Given the description of an element on the screen output the (x, y) to click on. 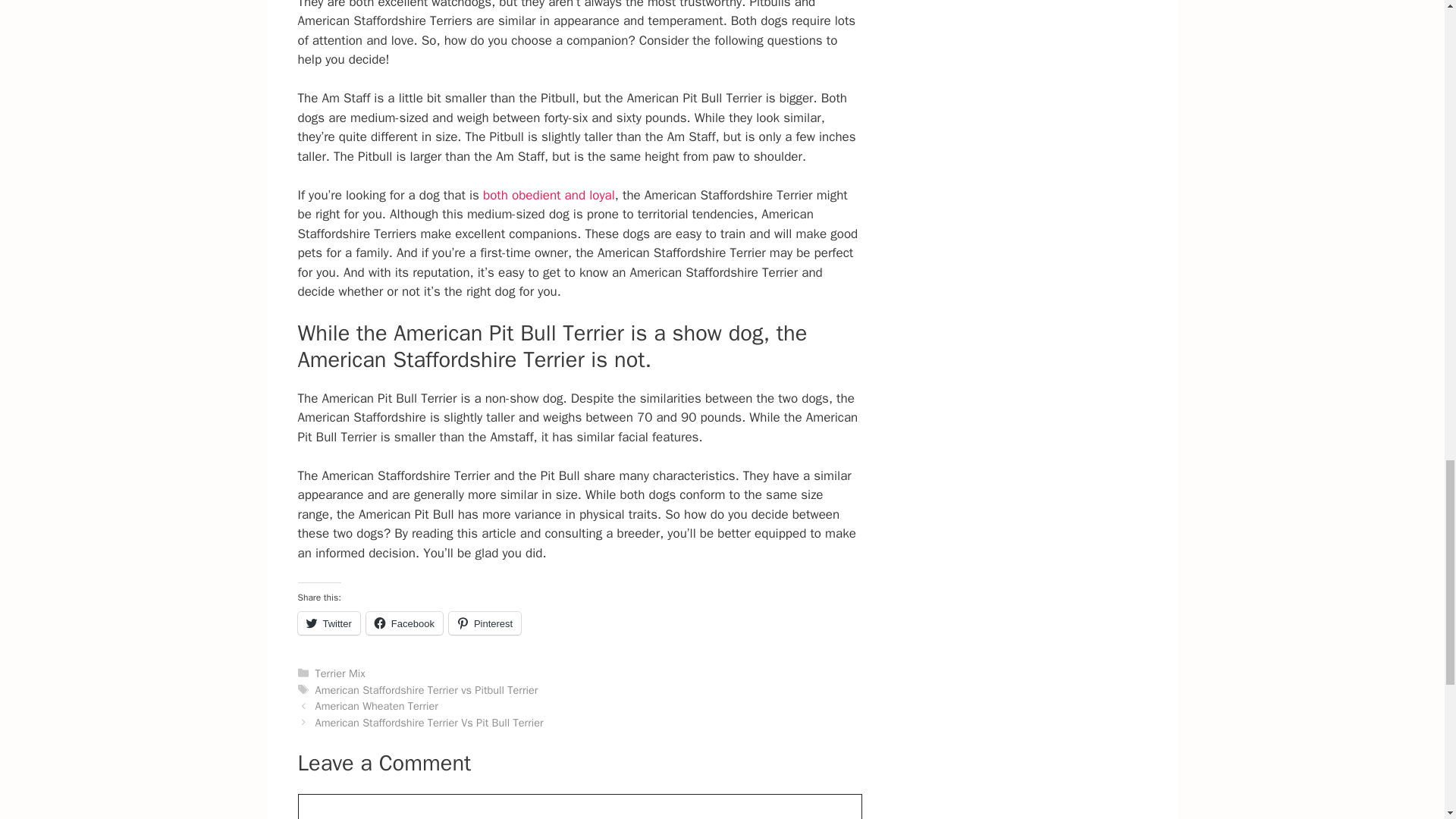
American Staffordshire Terrier vs Pitbull Terrier (426, 689)
Click to share on Twitter (328, 622)
Click to share on Pinterest (484, 622)
both obedient and loyal (548, 195)
Twitter (328, 622)
Click to share on Facebook (404, 622)
Terrier Mix (340, 673)
American Wheaten Terrier (376, 705)
American Staffordshire Terrier Vs Pit Bull Terrier (429, 722)
Pinterest (484, 622)
